Given the description of an element on the screen output the (x, y) to click on. 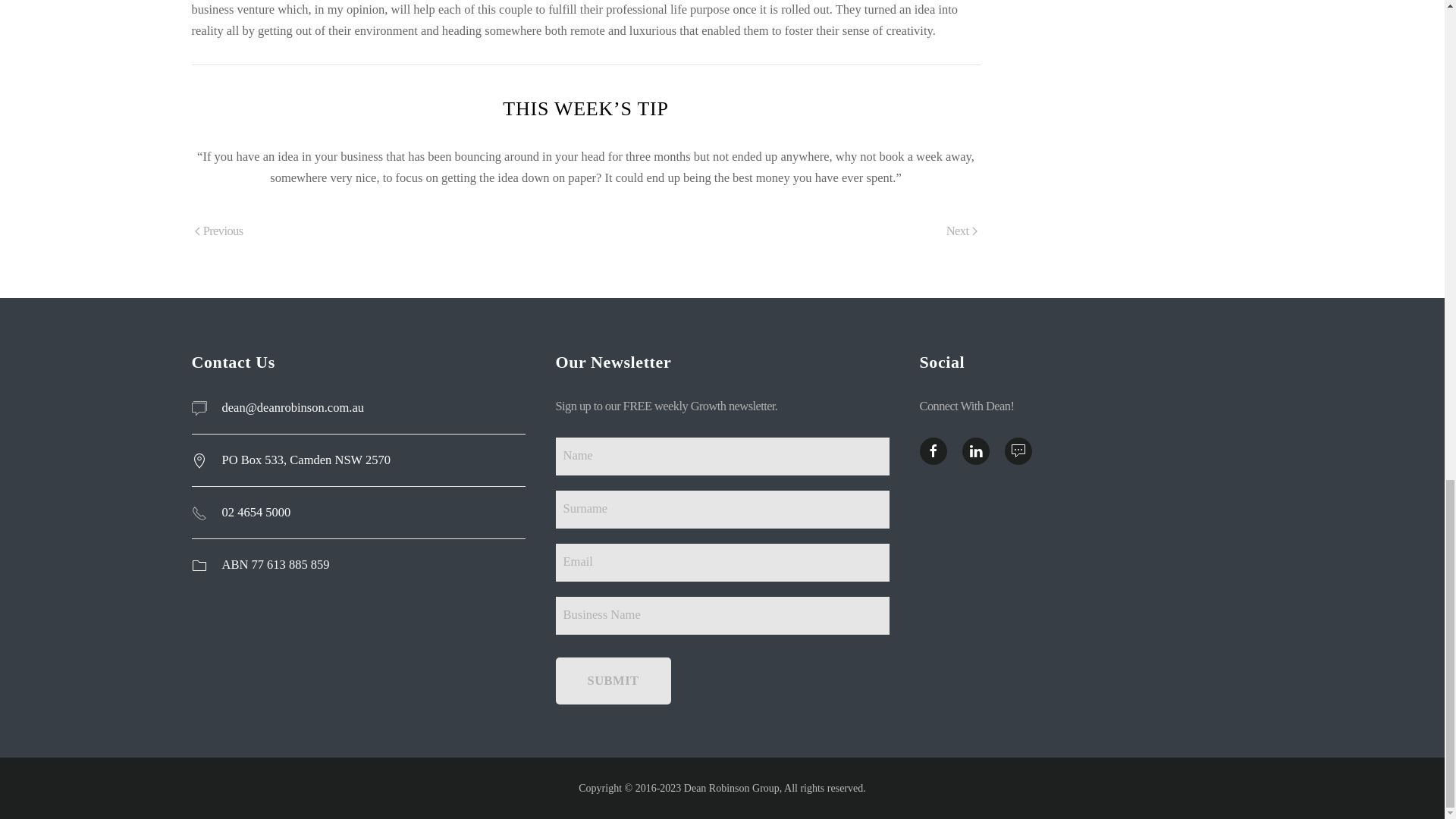
Submit (611, 680)
